Given the description of an element on the screen output the (x, y) to click on. 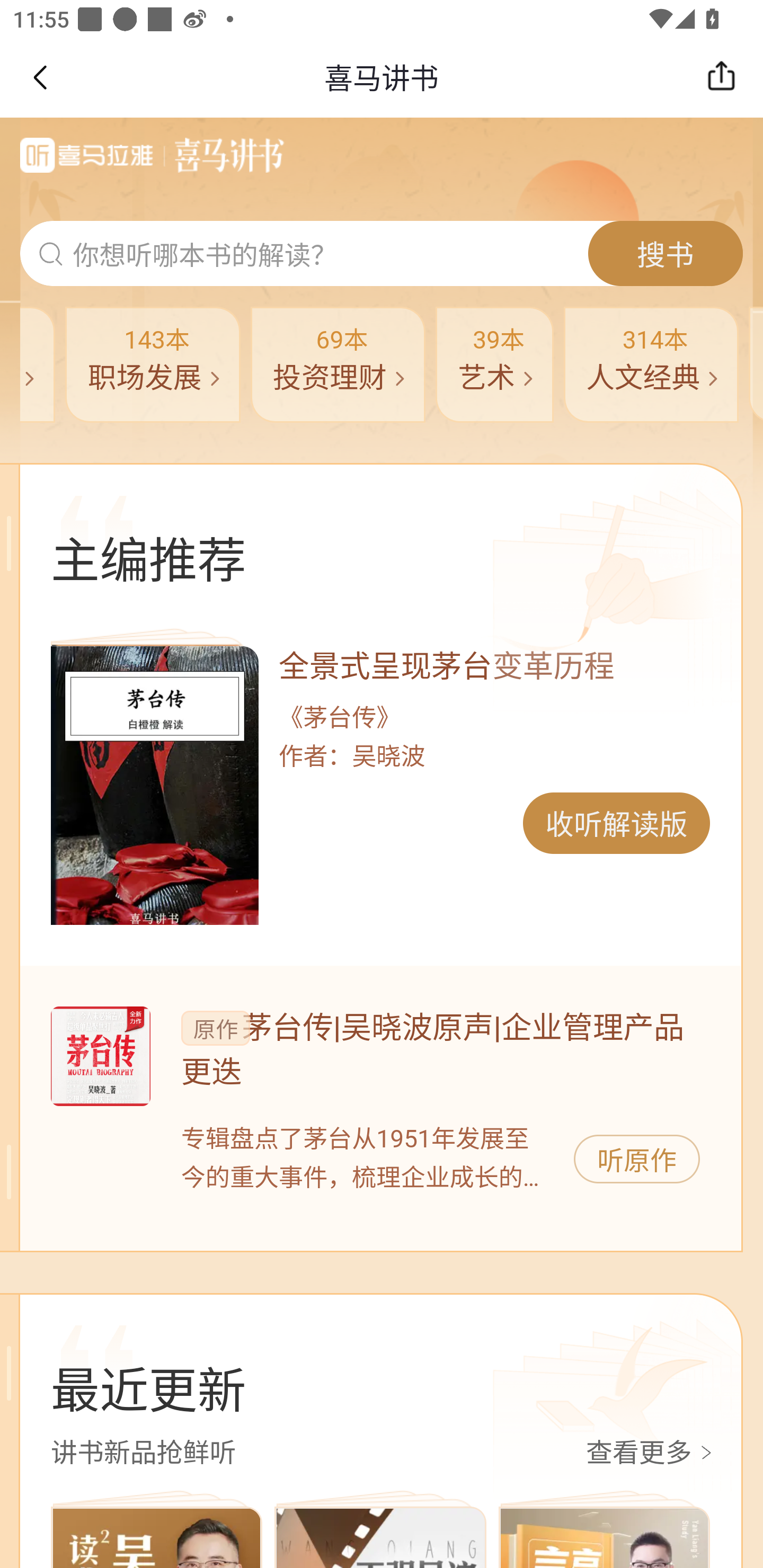
返回 (39, 77)
分享 (725, 77)
ic_search@3x 你想听哪本书的解读？ 搜书 (381, 253)
经济金融 search_tab_go@3x (37, 364)
143本 职场发展 search_tab_go@3x (152, 364)
69本 投资理财 search_tab_go@3x (337, 364)
39本 艺术 search_tab_go@3x (494, 364)
314本 人文经典 search_tab_go@3x (651, 364)
wDMRKpPTcKyaAAAAABJRU5ErkJggg== 图片，按钮 (154, 785)
收听解读版 (615, 822)
图片，按钮 (100, 1055)
听原作 (636, 1158)
查看更多 切片 (651, 1453)
